Given the description of an element on the screen output the (x, y) to click on. 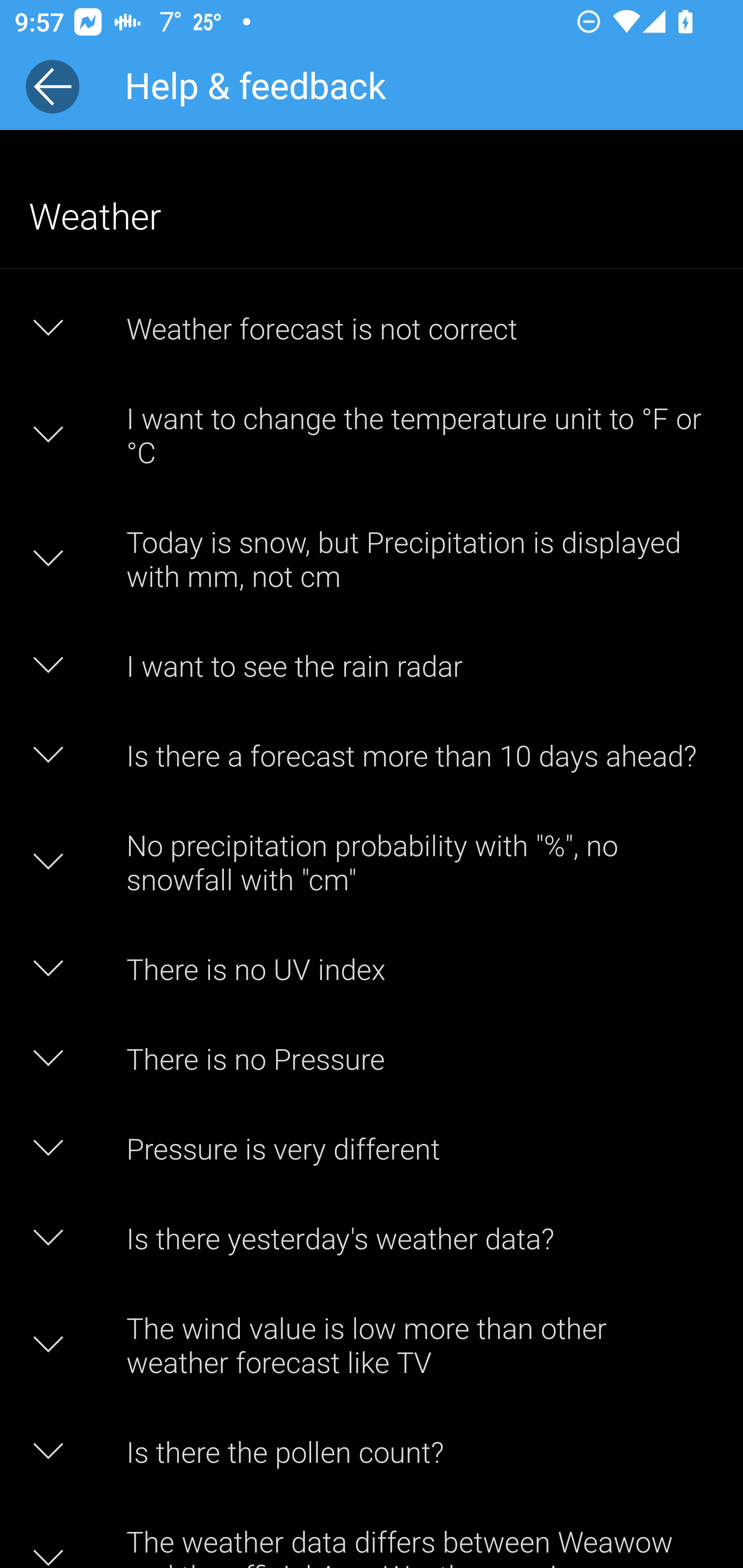
Weather forecast is not correct  (371, 328)
I want to see the rain radar  (371, 665)
Is there a forecast more than 10 days ahead?  (371, 754)
There is no UV index  (371, 967)
There is no Pressure  (371, 1057)
Pressure is very different  (371, 1148)
Is there yesterday's weather data?  (371, 1237)
Is there the pollen count?  (371, 1450)
